Given the description of an element on the screen output the (x, y) to click on. 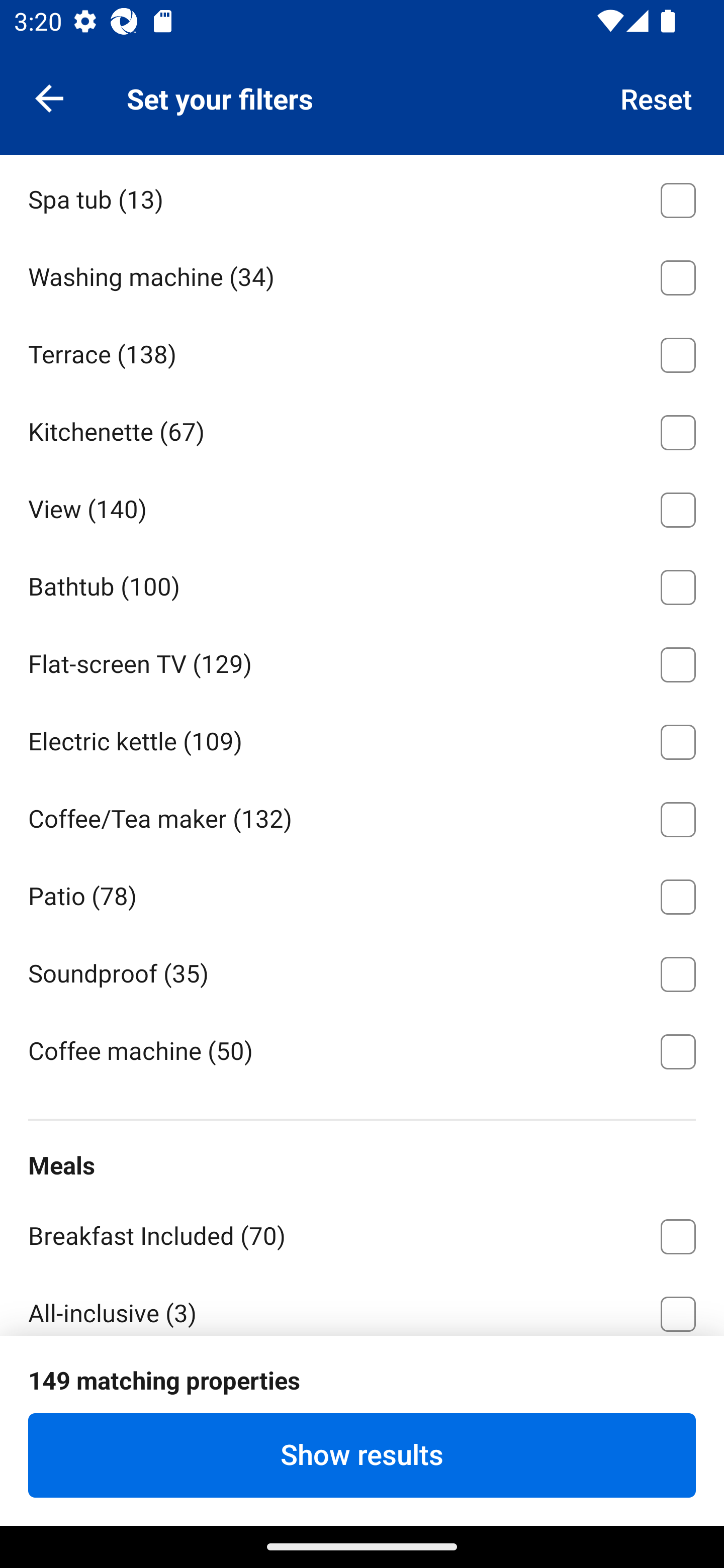
Navigate up (49, 97)
Reset (656, 97)
Spa tub ⁦(13) (361, 196)
Washing machine ⁦(34) (361, 274)
Terrace ⁦(138) (361, 351)
Kitchenette ⁦(67) (361, 428)
View ⁦(140) (361, 506)
Bathtub ⁦(100) (361, 583)
Flat-screen TV ⁦(129) (361, 660)
Electric kettle ⁦(109) (361, 738)
Coffee/Tea maker ⁦(132) (361, 815)
Patio ⁦(78) (361, 893)
Soundproof ⁦(35) (361, 970)
Coffee machine ⁦(50) (361, 1050)
Breakfast Included ⁦(70) (361, 1232)
All-inclusive ⁦(3) (361, 1303)
Breakfast & dinner included ⁦(2) (361, 1388)
Show results (361, 1454)
